Given the description of an element on the screen output the (x, y) to click on. 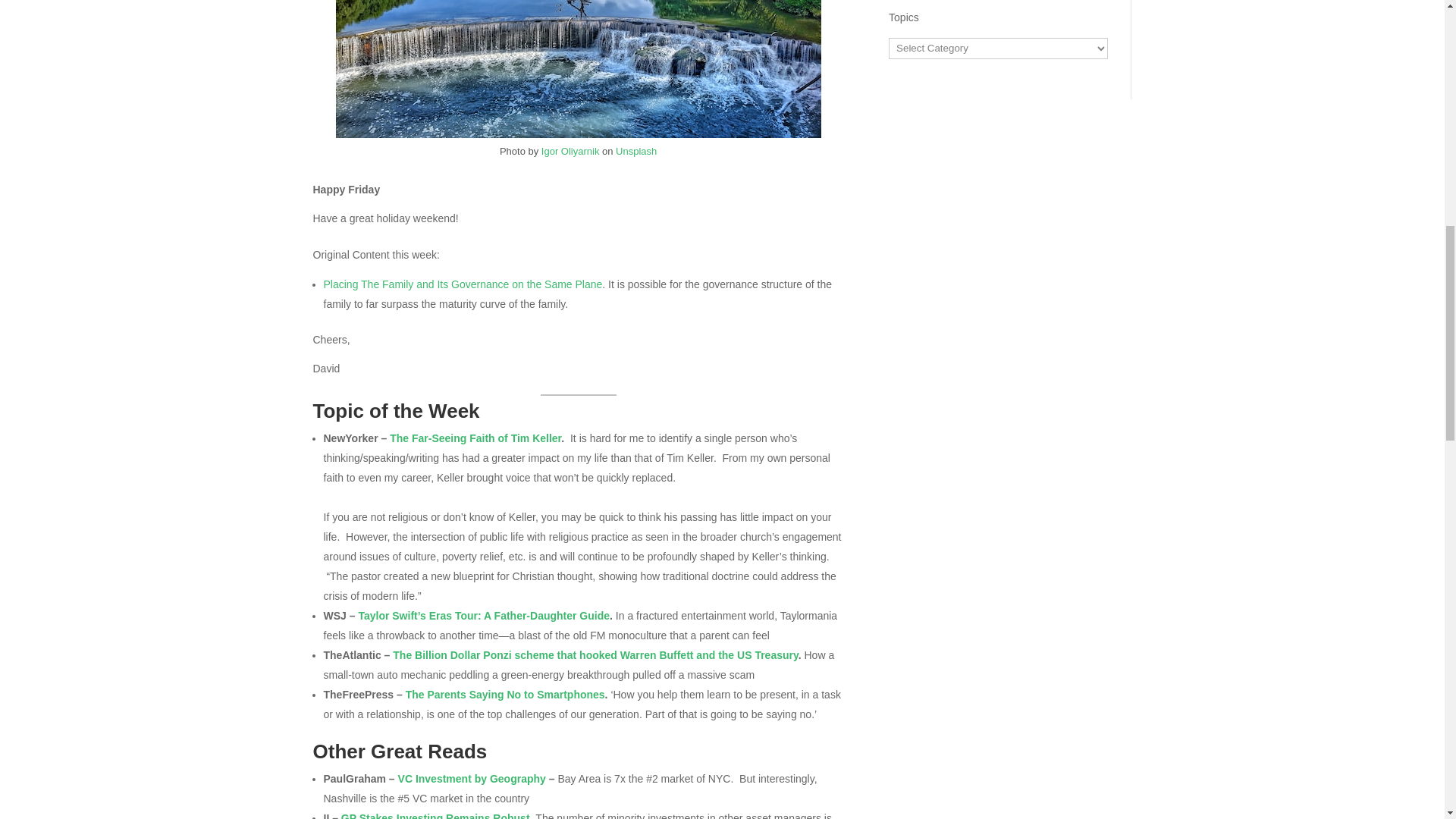
The Far-Seeing Faith of Tim Keller (475, 438)
Placing The Family and Its Governance on the Same Plane (462, 284)
VC Investment by Geography (471, 778)
Igor Oliyarnik (570, 151)
Unsplash (635, 151)
The Parents Saying No to Smartphones (505, 694)
GP Stakes Investing Remains Robust (434, 815)
